Given the description of an element on the screen output the (x, y) to click on. 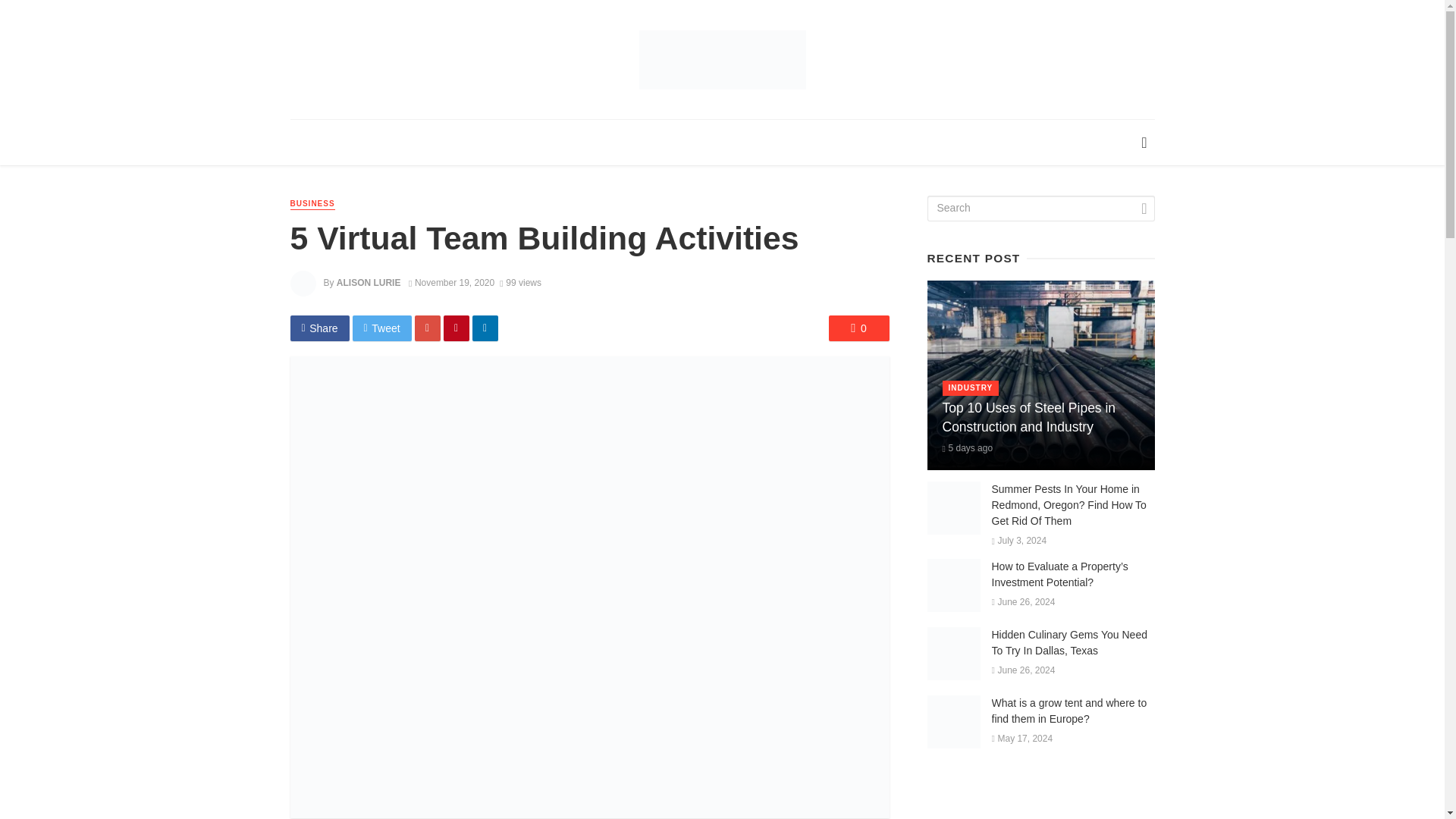
Top 10 Uses of Steel Pipes in Construction and Industry (1040, 416)
Share on Twitter (382, 328)
Posts by Alison Lurie (368, 282)
ALISON LURIE (368, 282)
November 19, 2020 at 2:49 pm (452, 282)
Share on Pinterest (456, 328)
INDUSTRY (970, 387)
BUSINESS (311, 204)
0 Comments (858, 328)
Share on Facebook (319, 328)
0 (858, 328)
Tweet (382, 328)
Share on Linkedin (484, 328)
Share (319, 328)
